Given the description of an element on the screen output the (x, y) to click on. 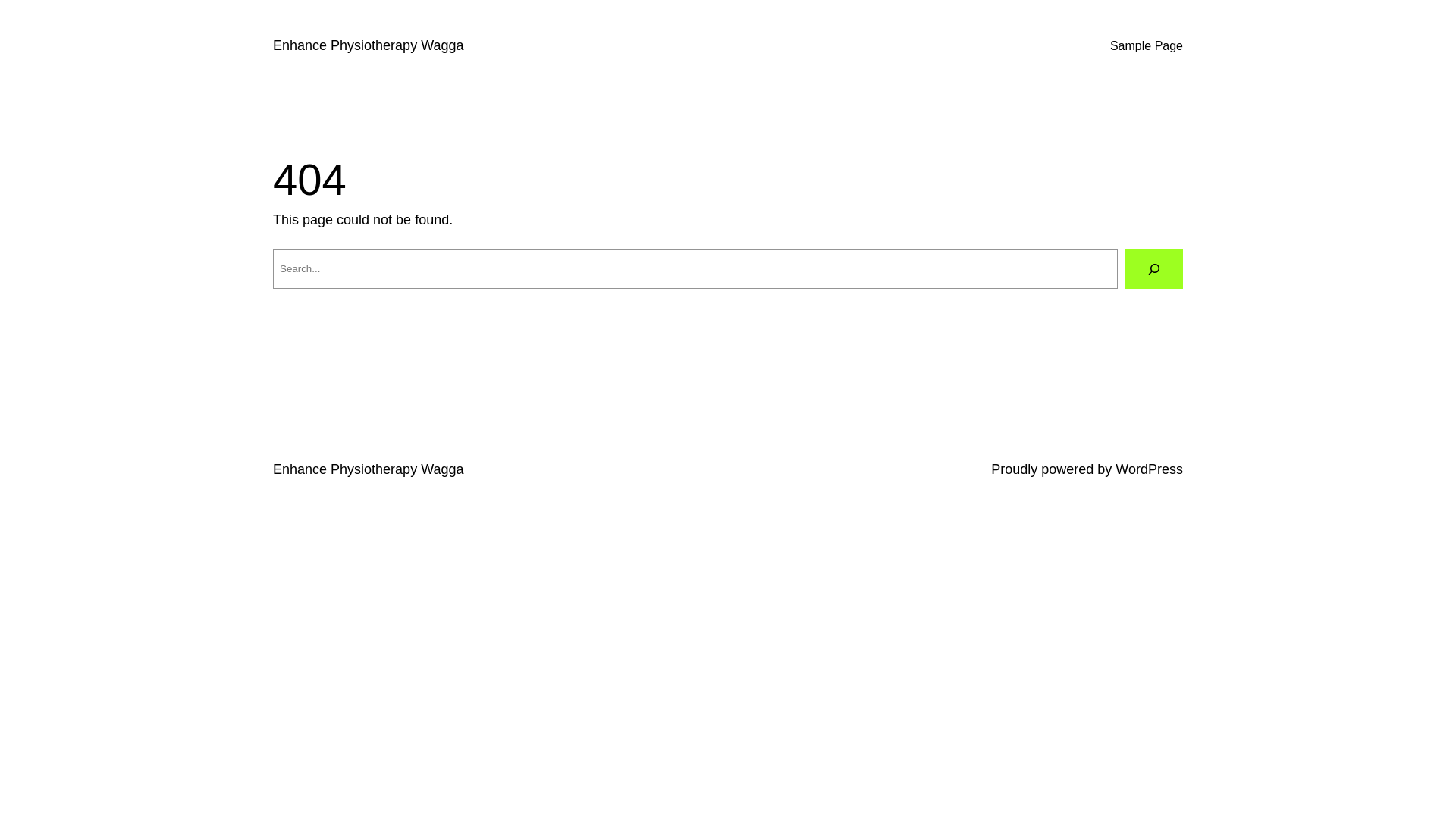
WordPress Element type: text (1149, 468)
Enhance Physiotherapy Wagga Element type: text (368, 45)
Enhance Physiotherapy Wagga Element type: text (368, 468)
Sample Page Element type: text (1146, 46)
